Given the description of an element on the screen output the (x, y) to click on. 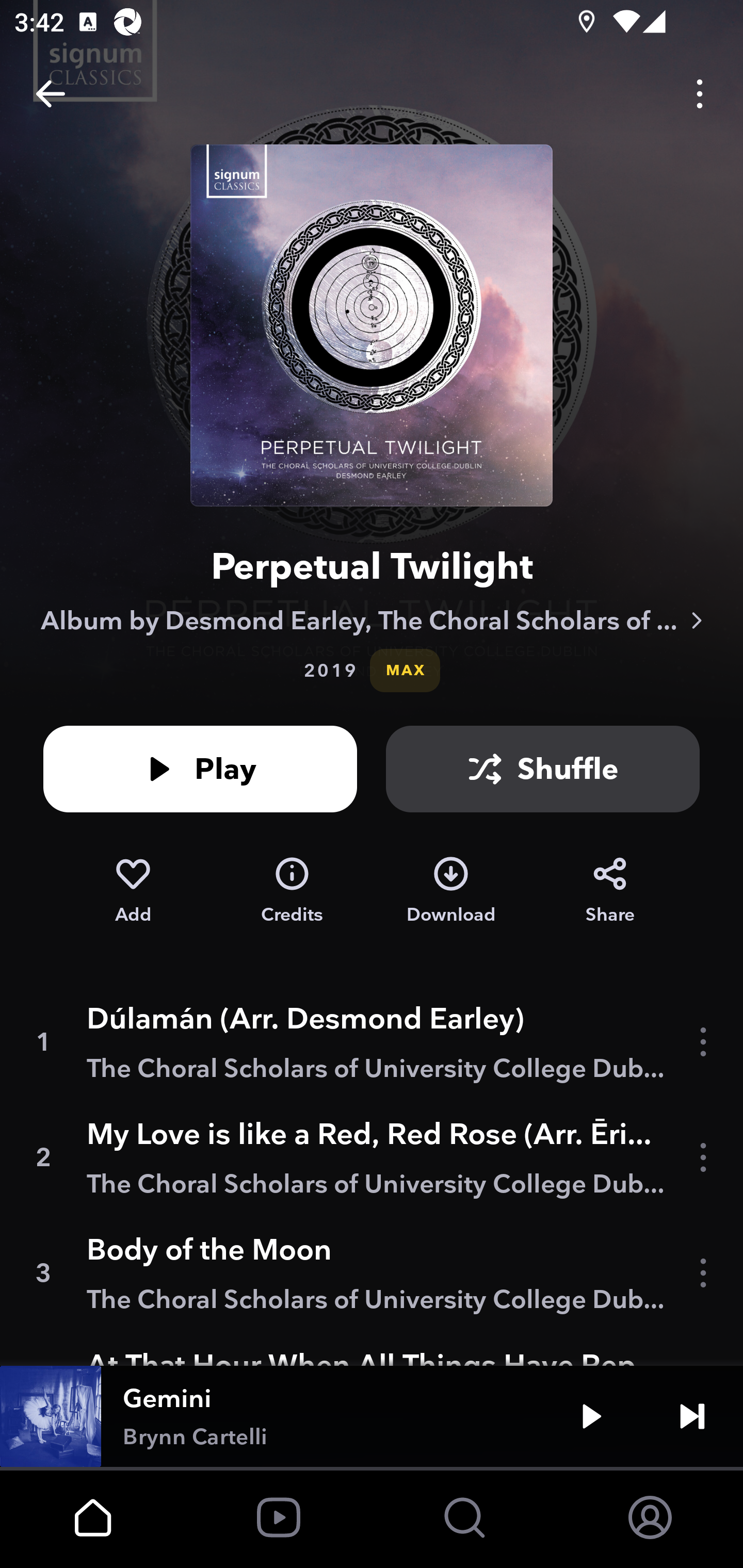
Options (699, 93)
Perpetual Twilight (371, 565)
Play (200, 768)
Shuffle (542, 768)
Add to My Collection Add (132, 890)
Credits (291, 890)
Download (450, 890)
Share (609, 890)
Gemini Brynn Cartelli Play (371, 1416)
Play (590, 1416)
